Given the description of an element on the screen output the (x, y) to click on. 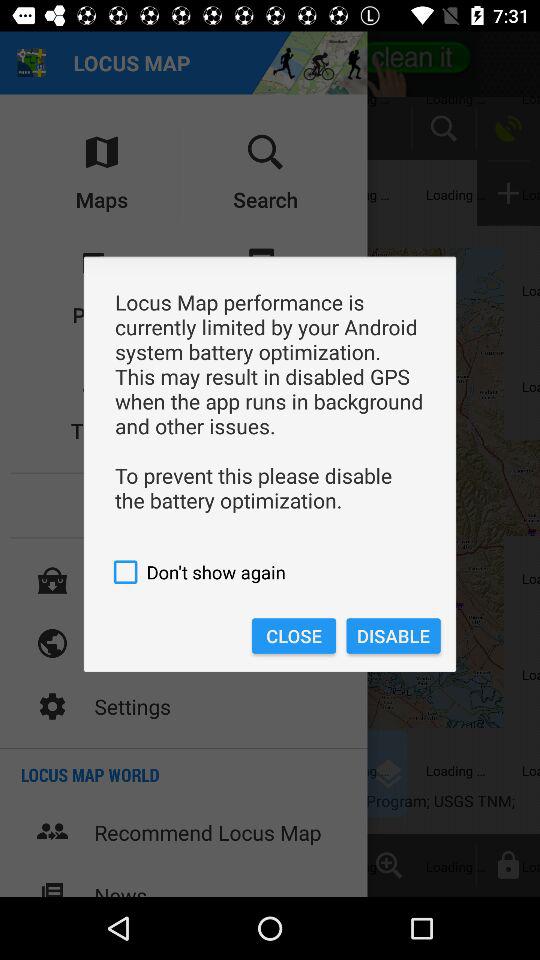
choose close icon (293, 635)
